Given the description of an element on the screen output the (x, y) to click on. 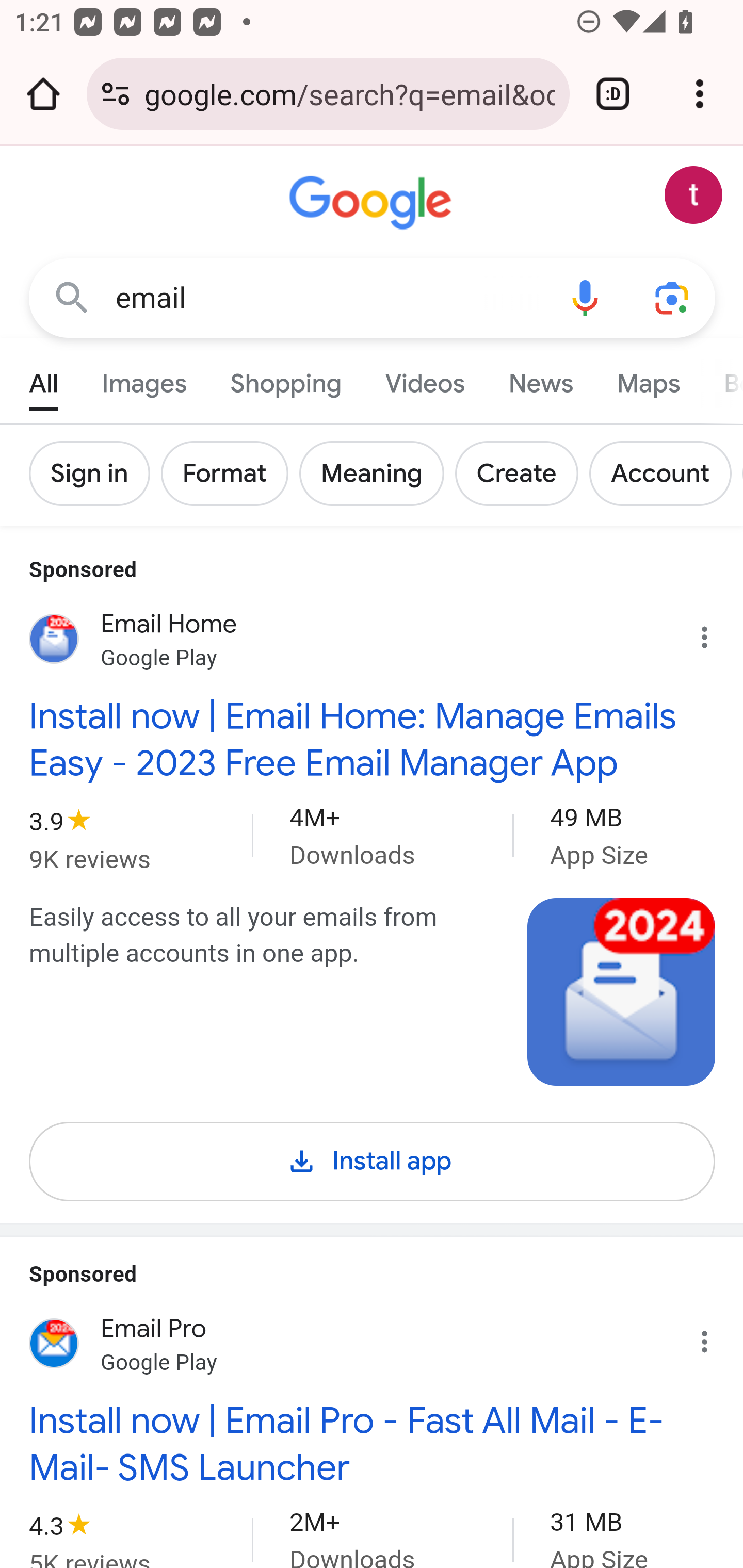
Open the home page (43, 93)
Connection is secure (115, 93)
Switch or close tabs (612, 93)
Customize and control Google Chrome (699, 93)
Google (372, 203)
Google Search (71, 296)
Search using your camera or photos (672, 296)
email (328, 297)
Images (144, 378)
Shopping (285, 378)
Videos (424, 378)
News (540, 378)
Maps (647, 378)
Add Sign in Sign in (95, 473)
Add Format Format (229, 473)
Add Meaning Meaning (376, 473)
Add Create Create (521, 473)
Add Account Account (665, 473)
Why this ad? (714, 632)
Image from google.com (621, 991)
Install app (372, 1157)
Why this ad? (714, 1336)
